Given the description of an element on the screen output the (x, y) to click on. 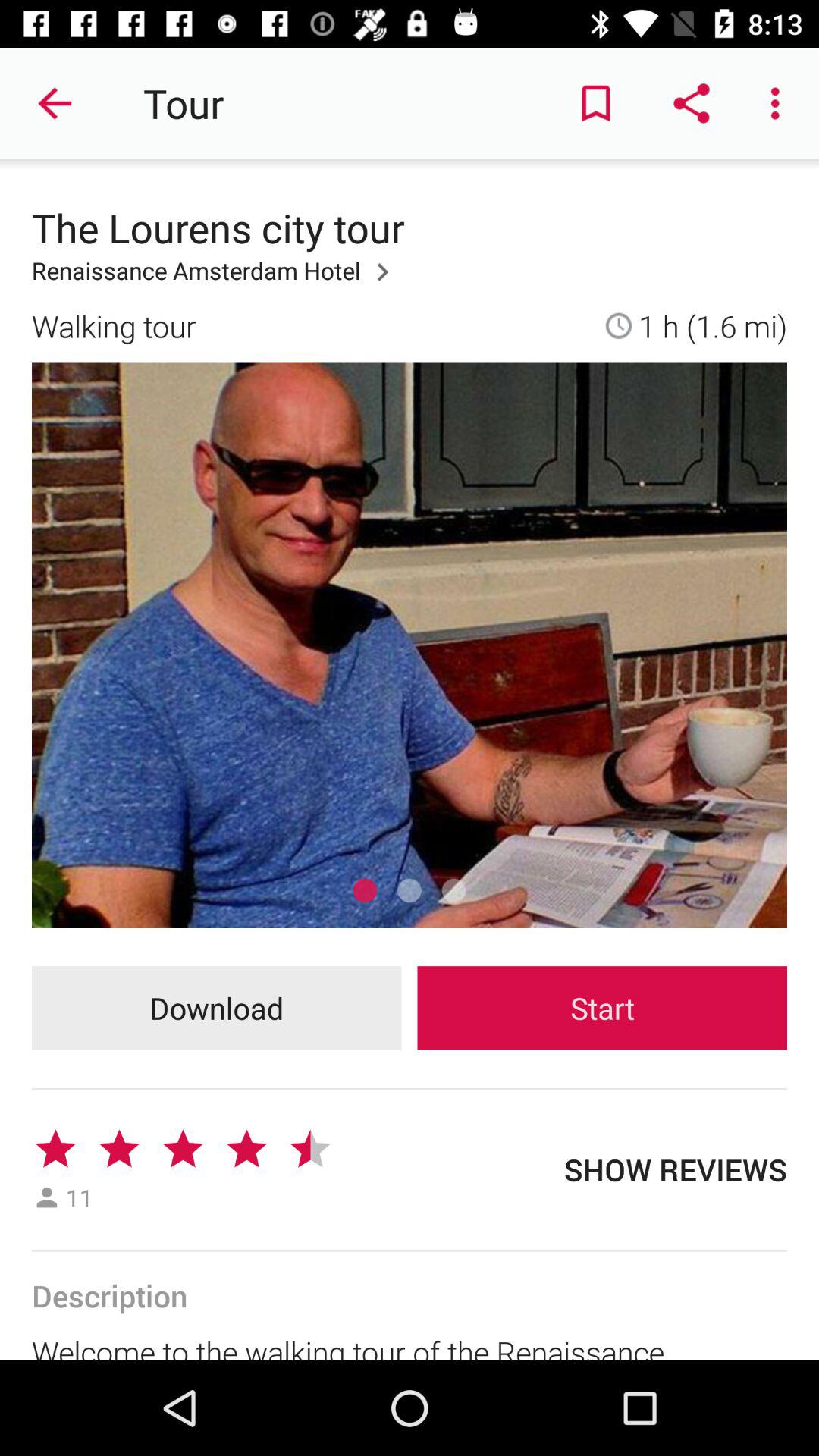
go back (55, 103)
